Given the description of an element on the screen output the (x, y) to click on. 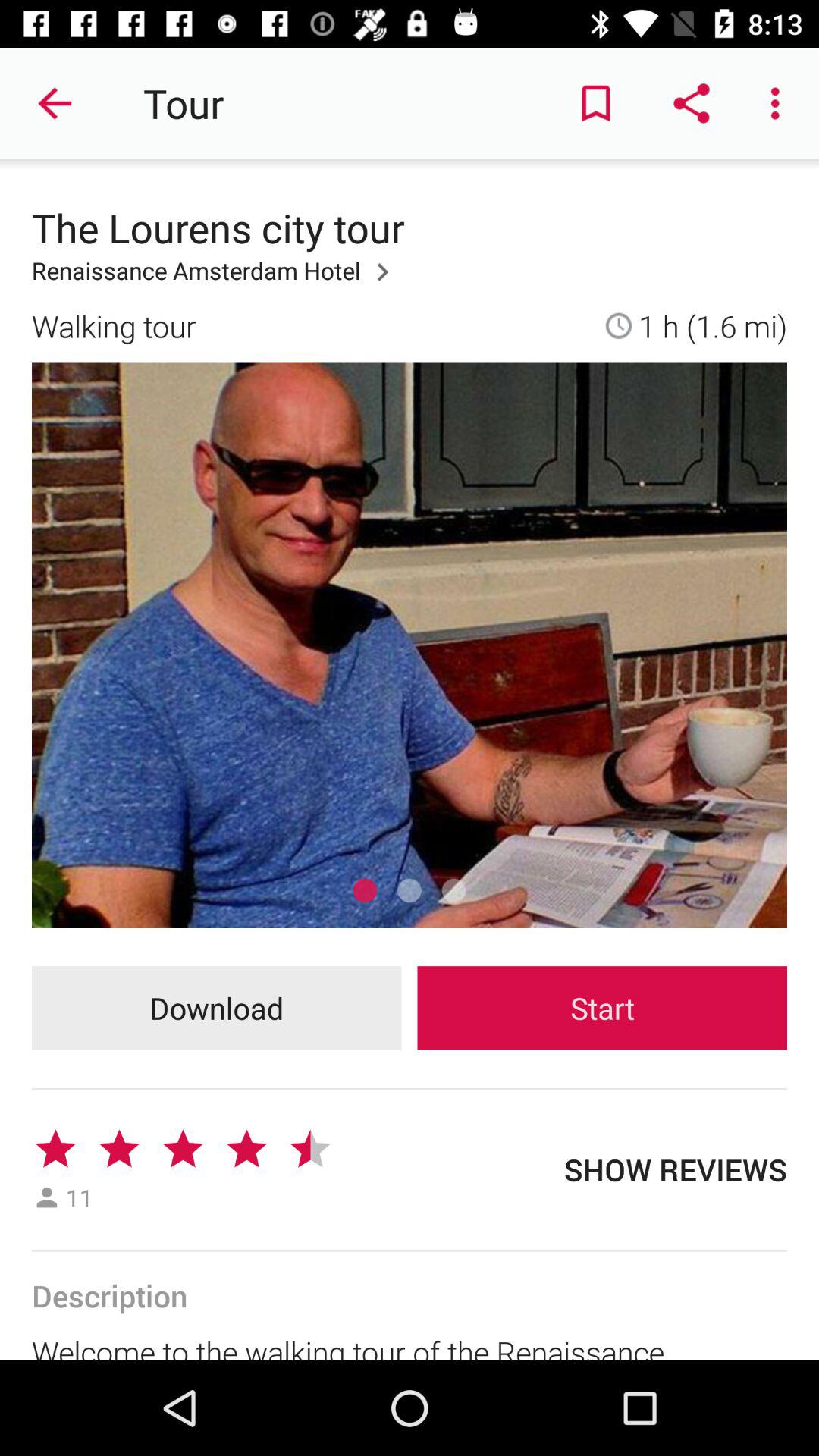
go back (55, 103)
